Given the description of an element on the screen output the (x, y) to click on. 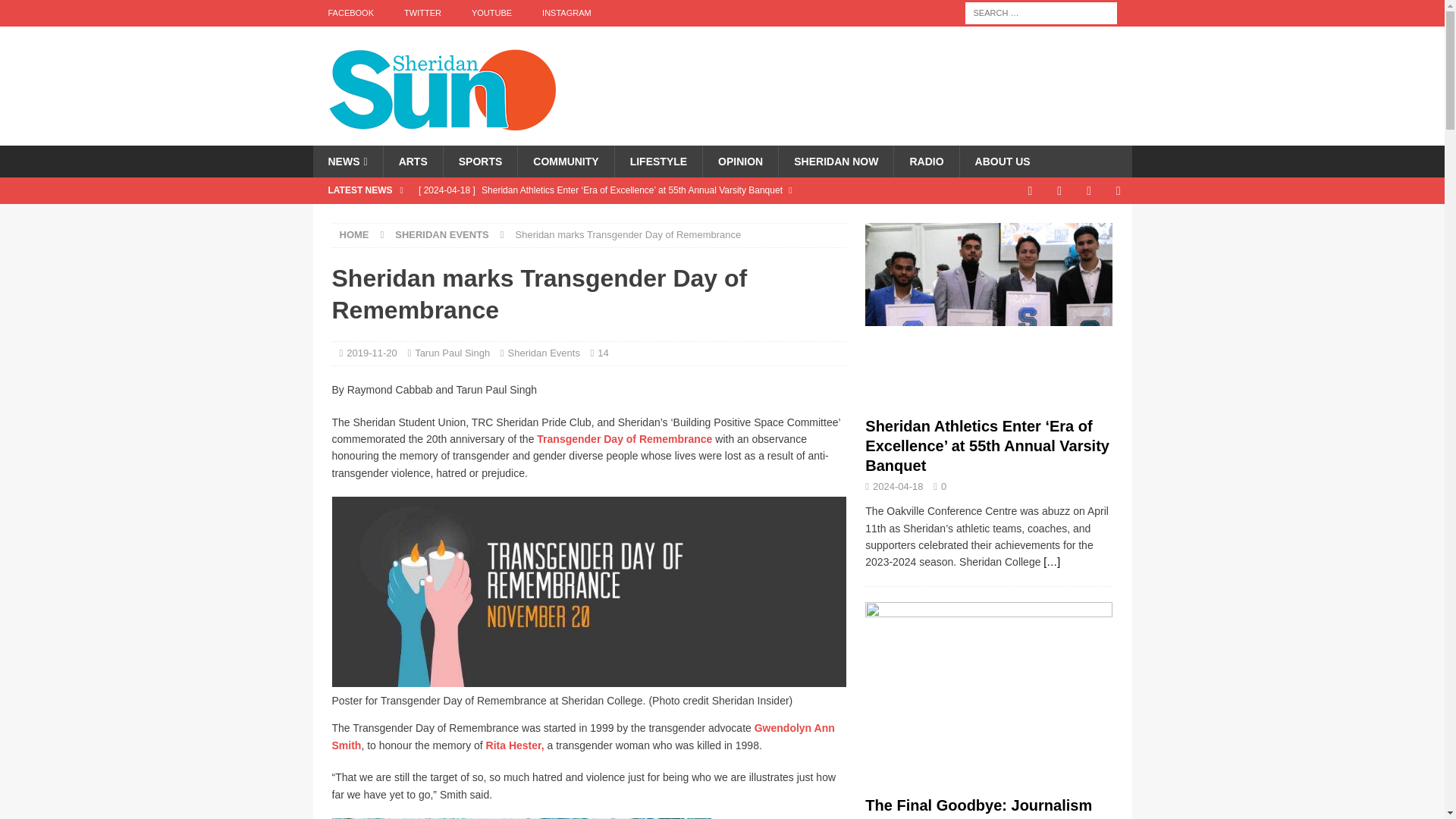
14 (602, 352)
14 (602, 352)
2019-11-20 (371, 352)
Sheridan Events (543, 352)
ABOUT US (1002, 161)
SHERIDAN EVENTS (441, 234)
SHERIDAN NOW (835, 161)
HOME (354, 234)
Search (56, 11)
RADIO (925, 161)
